Given the description of an element on the screen output the (x, y) to click on. 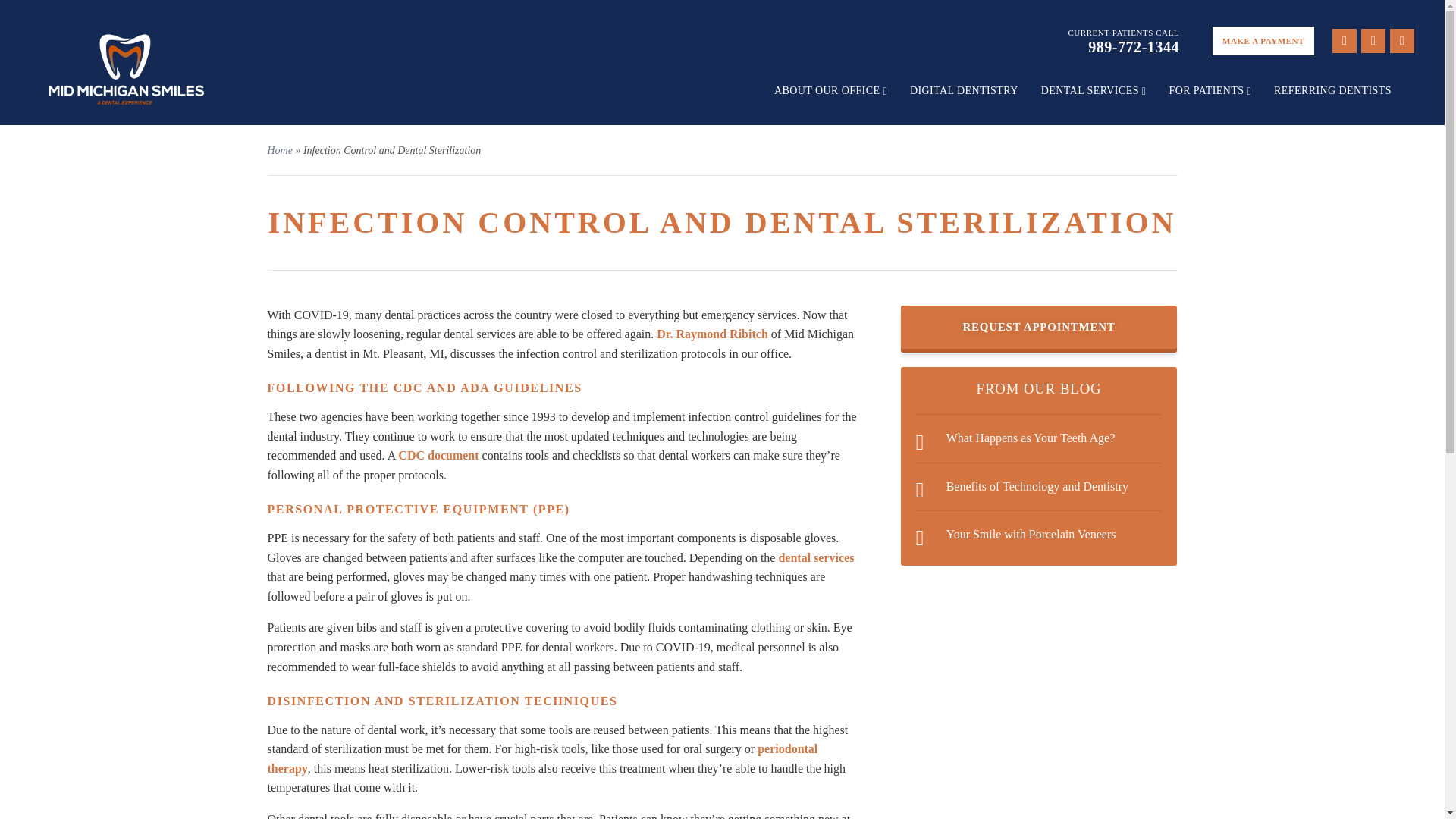
FOR PATIENTS (1209, 90)
DENTAL SERVICES (1094, 90)
MAKE A PAYMENT (1263, 40)
ABOUT OUR OFFICE (830, 90)
DIGITAL DENTISTRY (963, 90)
REFERRING DENTISTS (1332, 90)
